Given the description of an element on the screen output the (x, y) to click on. 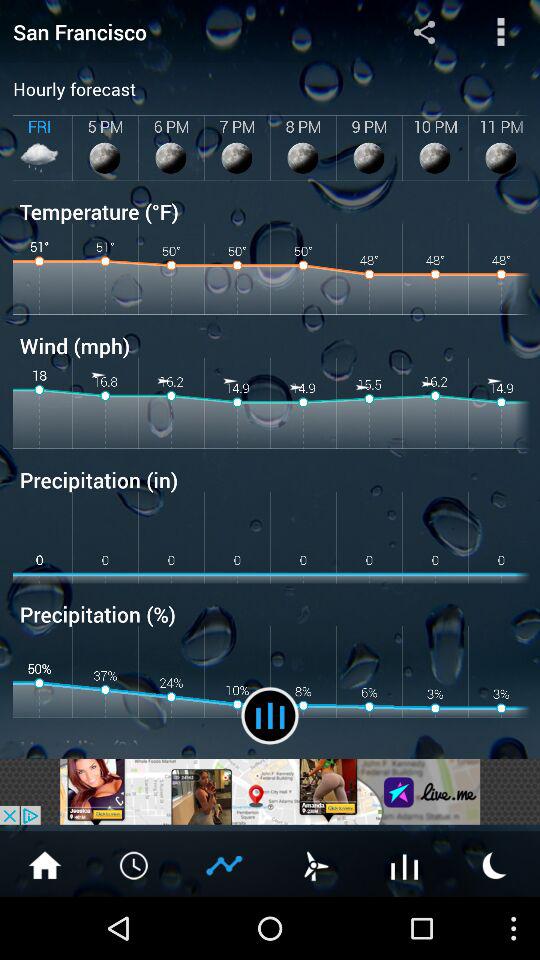
menu button (500, 31)
